Given the description of an element on the screen output the (x, y) to click on. 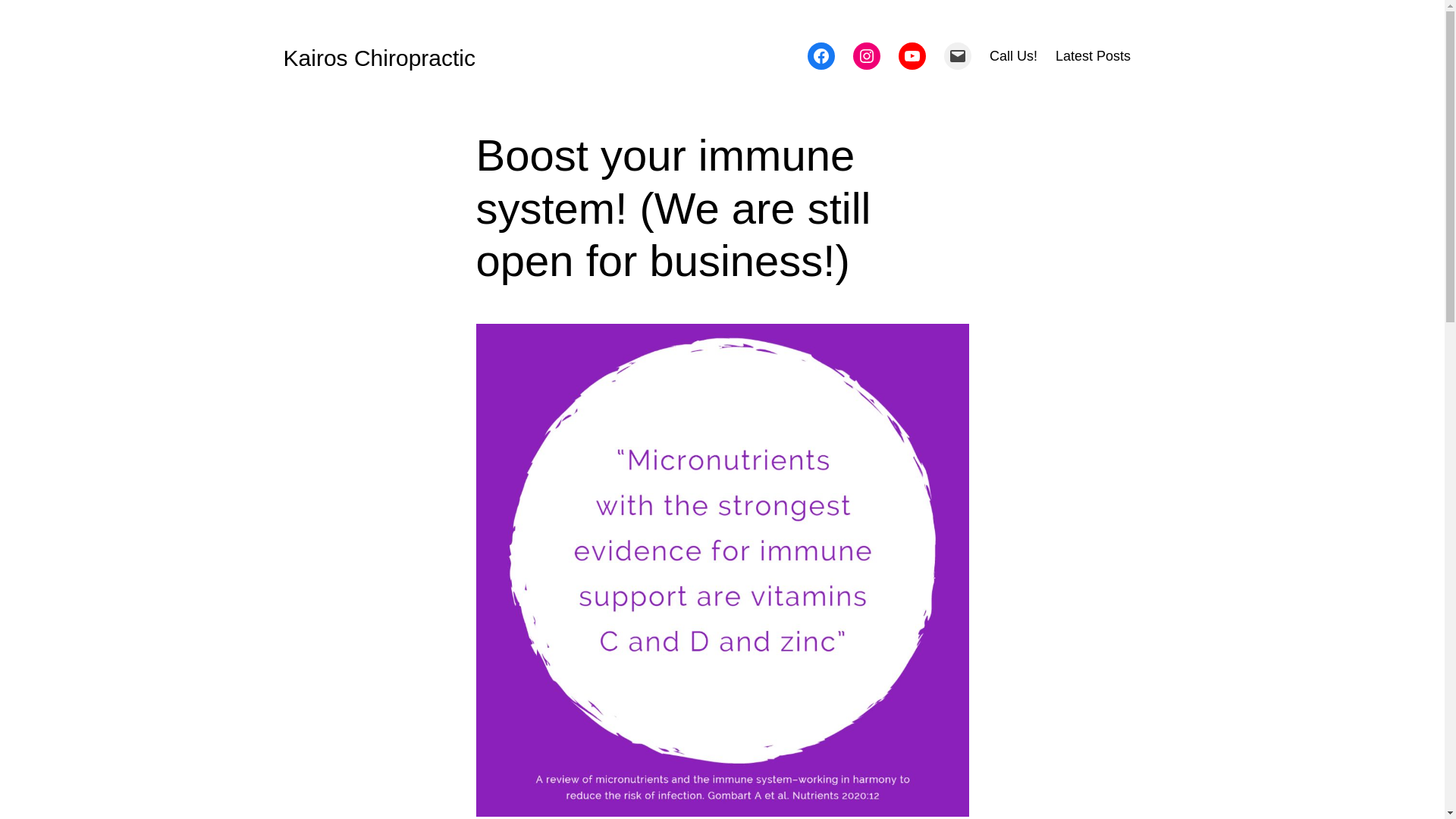
Latest Posts Element type: text (1092, 56)
Kairos Chiropractic Element type: text (379, 57)
Mail Element type: text (957, 55)
Facebook Element type: text (820, 55)
Call Us! Element type: text (1013, 56)
YouTube Element type: text (911, 55)
Instagram Element type: text (866, 55)
